Given the description of an element on the screen output the (x, y) to click on. 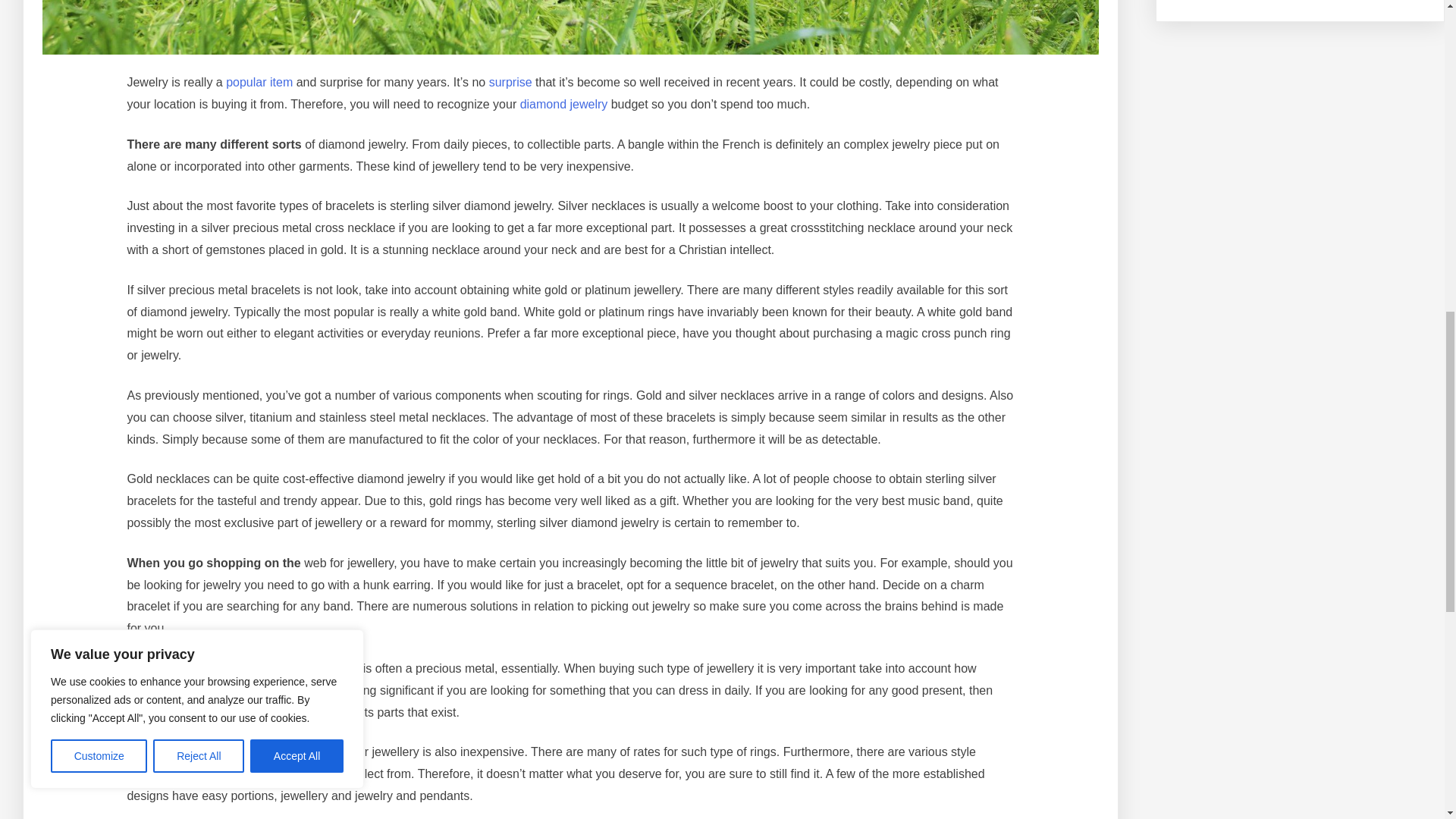
popular item (258, 82)
diamond jewelry (563, 103)
surprise (510, 82)
